Given the description of an element on the screen output the (x, y) to click on. 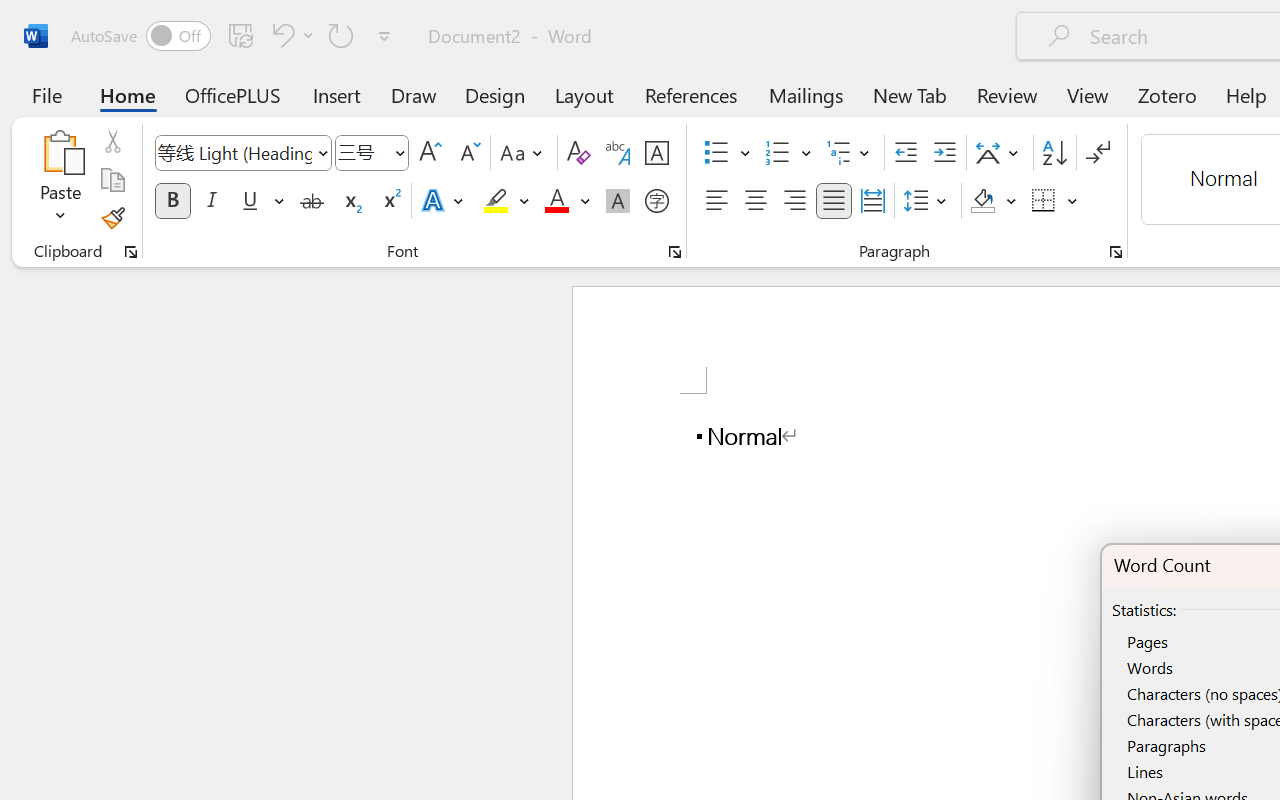
More Options (1073, 201)
Bold (172, 201)
Multilevel List (850, 153)
Numbering (778, 153)
Font (242, 153)
Justify (834, 201)
Open (399, 152)
Customize Quick Access Toolbar (384, 35)
Distributed (872, 201)
Font Size (372, 153)
Center (756, 201)
Underline (261, 201)
Paste (60, 151)
Design (495, 94)
Text Highlight Color Yellow (495, 201)
